Given the description of an element on the screen output the (x, y) to click on. 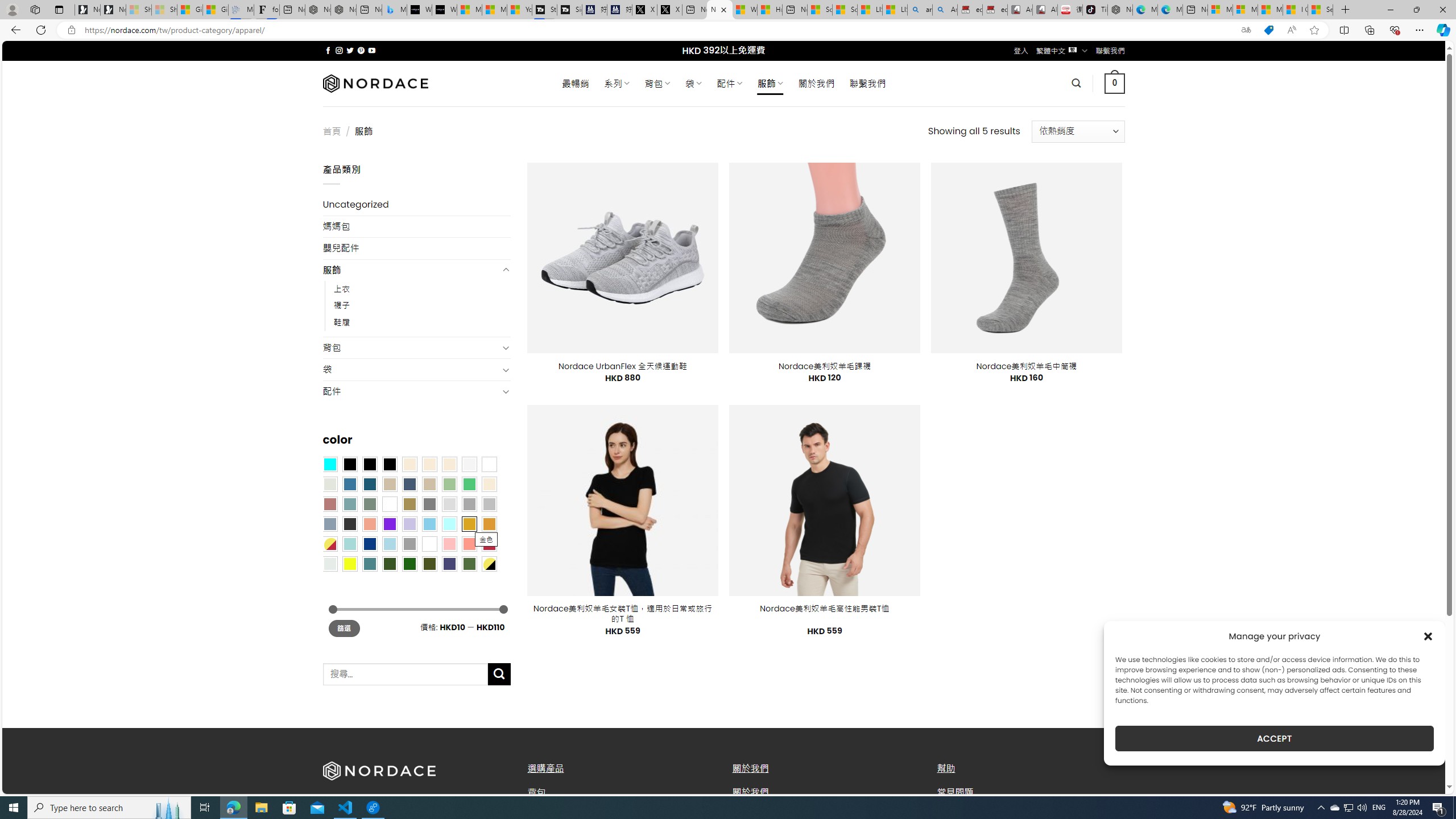
Huge shark washes ashore at New York City beach | Watch (769, 9)
  0   (1115, 83)
